Given the description of an element on the screen output the (x, y) to click on. 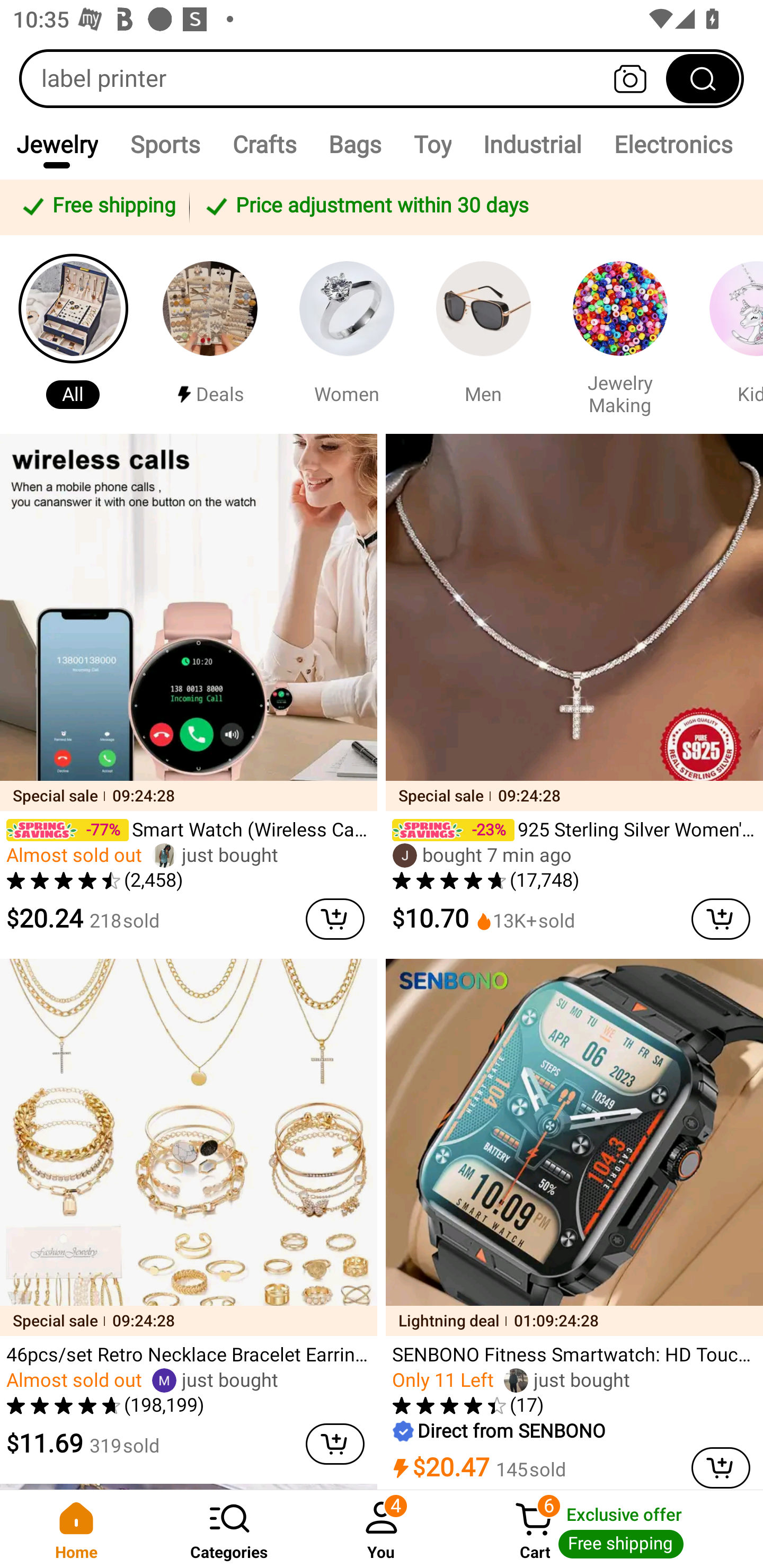
label printer (381, 78)
Jewelry (56, 144)
Sports (164, 144)
Crafts (263, 144)
Bags (354, 144)
Toy (431, 144)
Industrial (531, 144)
Electronics (672, 144)
Free shipping (97, 206)
Price adjustment within 30 days (472, 206)
All (72, 333)
￼￼Deals (209, 333)
Women (346, 333)
Men (482, 333)
Jewelry Making (619, 333)
cart delete (334, 918)
cart delete (720, 918)
cart delete (334, 1443)
cart delete (720, 1467)
Home (76, 1528)
Categories (228, 1528)
You 4 You (381, 1528)
Cart 6 Cart Exclusive offer (610, 1528)
